Given the description of an element on the screen output the (x, y) to click on. 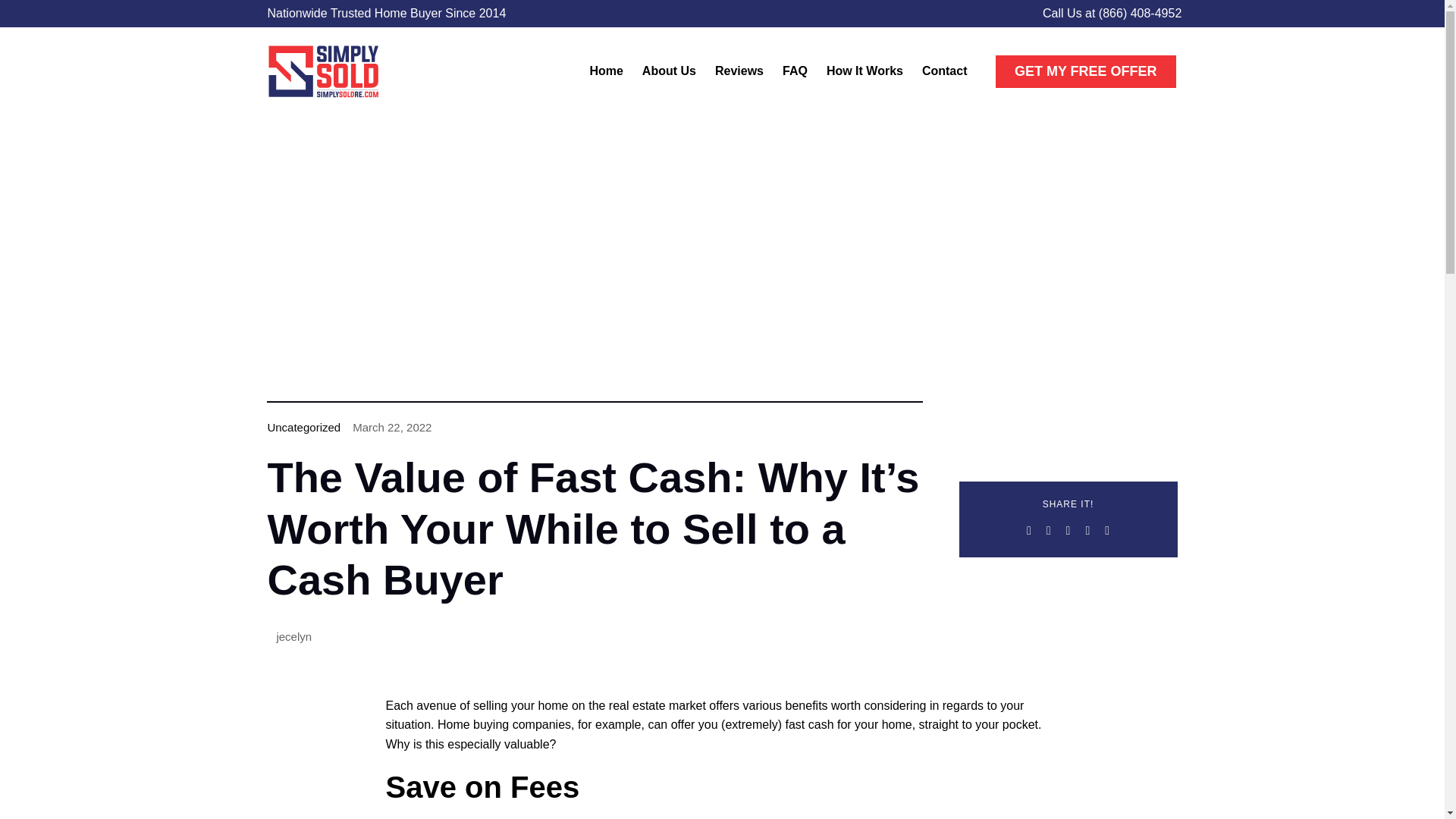
Uncategorized (303, 427)
GET MY FREE OFFER (1085, 71)
Reviews (738, 71)
About Us (668, 71)
Reddit (1068, 530)
LinkedIn (1087, 530)
How It Works (864, 71)
Contact (944, 71)
X (1048, 530)
Facebook (1029, 530)
Pinterest (1106, 530)
Uncategorized (303, 427)
